Given the description of an element on the screen output the (x, y) to click on. 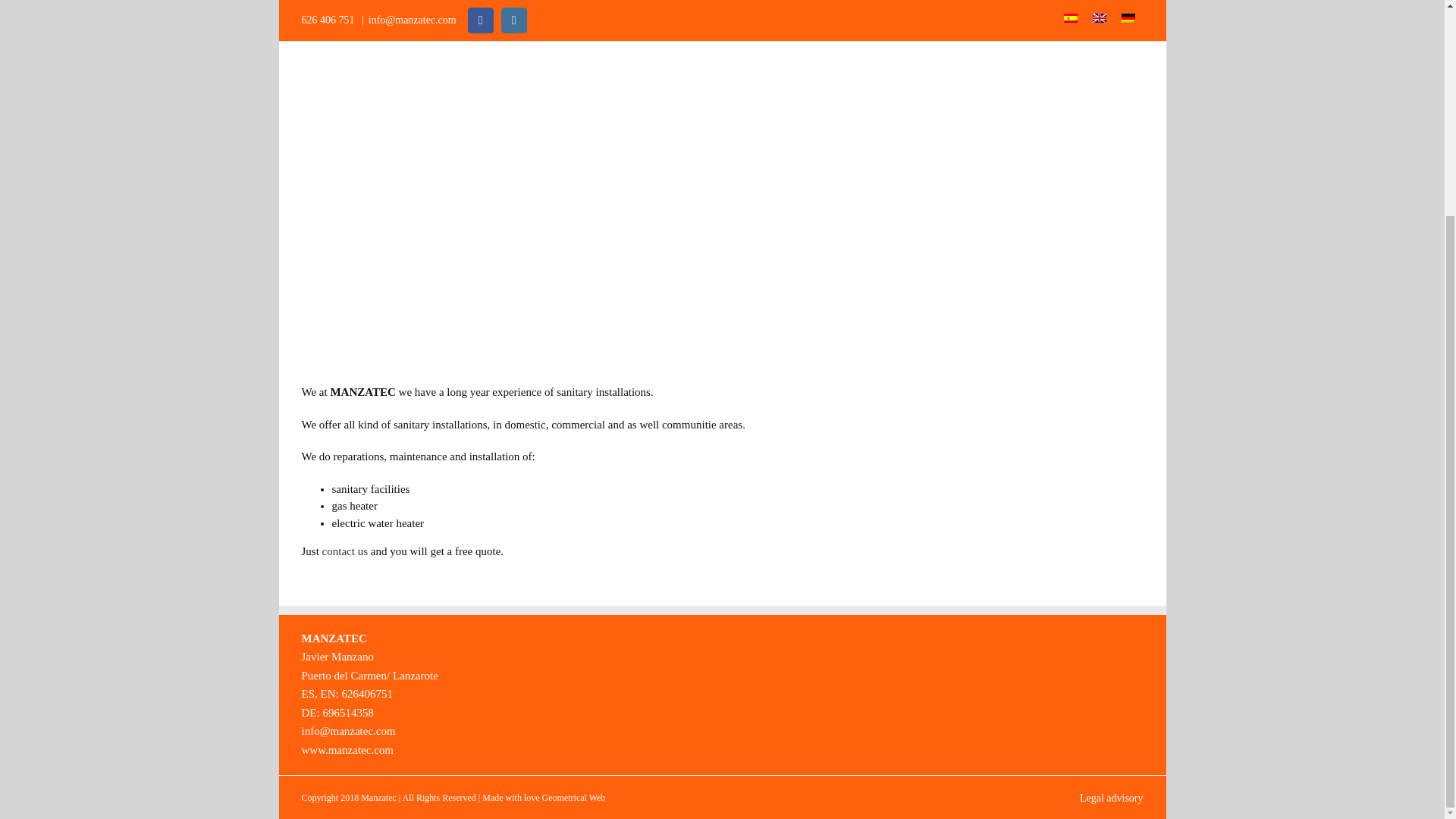
Geometrical Web (573, 797)
contact us (344, 551)
Legal advisory (1111, 797)
www.manzatec.com (347, 748)
